Given the description of an element on the screen output the (x, y) to click on. 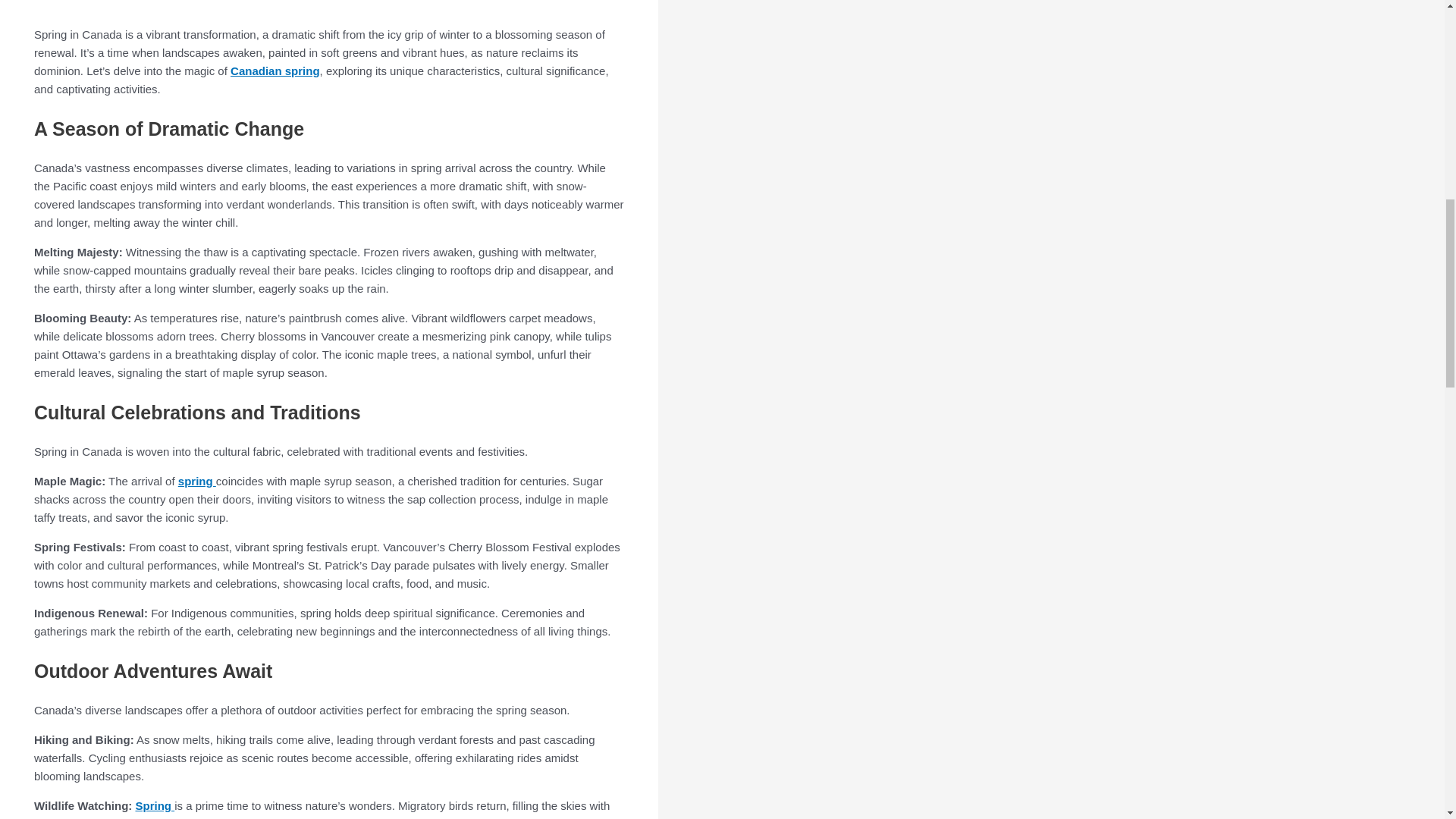
Spring (154, 805)
spring (196, 481)
Canadian Spring (281, 4)
Canadian spring (275, 70)
